Given the description of an element on the screen output the (x, y) to click on. 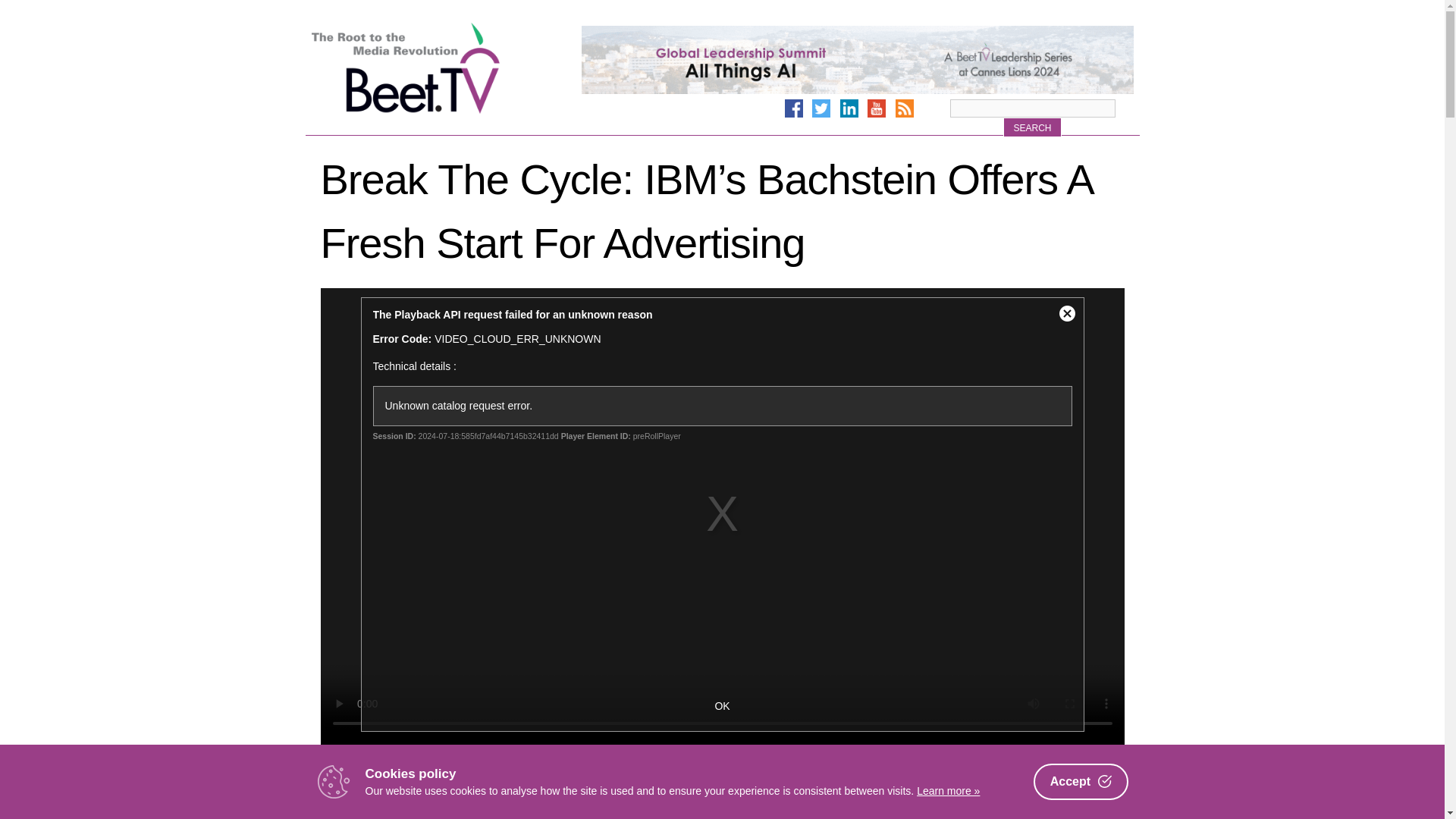
Search for: (1032, 108)
Beet.TV (443, 67)
Search (1032, 127)
Search (1032, 127)
Search (1032, 127)
Close Modal Dialog (1067, 314)
Close Modal Dialog (1067, 314)
OK (721, 705)
